Given the description of an element on the screen output the (x, y) to click on. 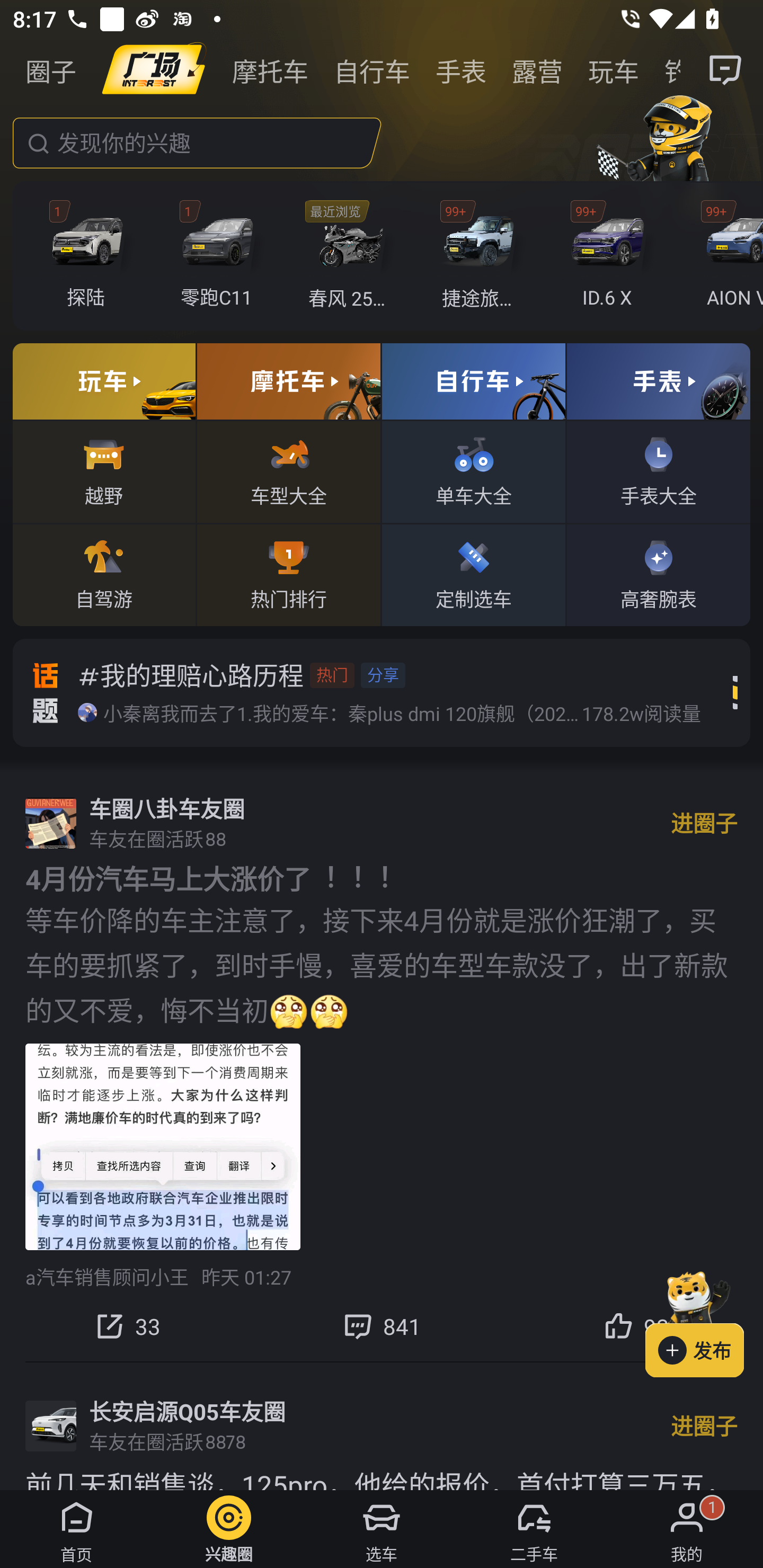
圈子 (50, 69)
image (153, 69)
摩托车 (269, 69)
自行车 (372, 69)
手表 (460, 69)
露营 (537, 69)
玩车 (613, 69)
 (726, 69)
1 探陆 (90, 256)
1 零跑C11 (220, 256)
春风 250SR (351, 256)
99+ 捷途旅行者 (481, 256)
99+ ID.6 X (611, 256)
99+ AION V (726, 256)
越野 (103, 471)
车型大全 (288, 471)
单车大全 (473, 471)
手表大全 (658, 471)
自驾游 (103, 574)
热门排行 (288, 574)
定制选车 (473, 574)
高奢腕表 (658, 574)
车圈八卦车友圈 车友在圈活跃 88 进圈子 (381, 822)
发布 (704, 1320)
 33 (127, 1326)
 841 (381, 1326)
93 (635, 1326)
长安启源Q05车友圈 车友在圈活跃 8878 进圈子 (381, 1425)
 首页 (76, 1528)
兴趣圈 (228, 1528)
 选车 (381, 1528)
 二手车 (533, 1528)
 我的 (686, 1528)
